Given the description of an element on the screen output the (x, y) to click on. 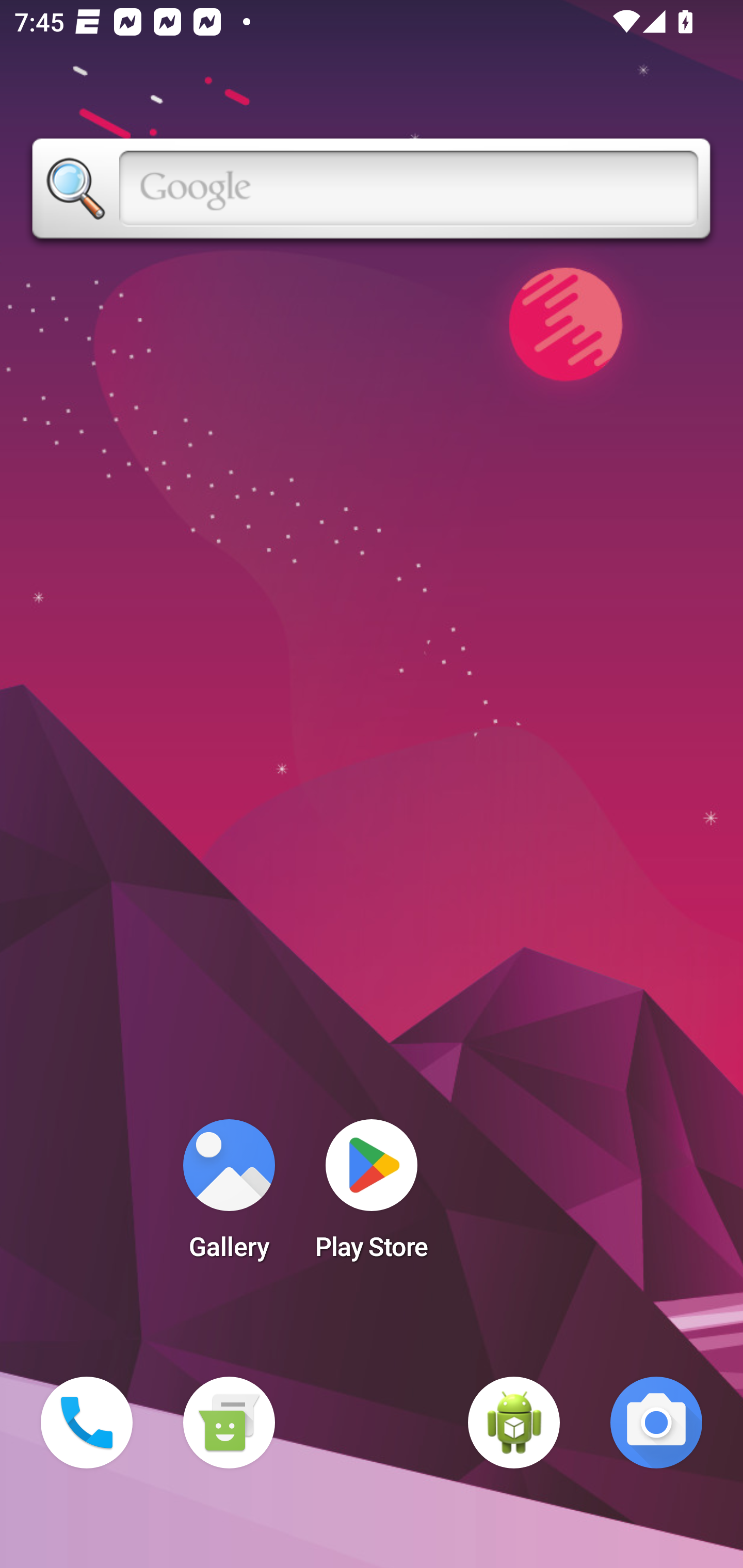
Gallery (228, 1195)
Play Store (371, 1195)
Phone (86, 1422)
Messaging (228, 1422)
WebView Browser Tester (513, 1422)
Camera (656, 1422)
